Given the description of an element on the screen output the (x, y) to click on. 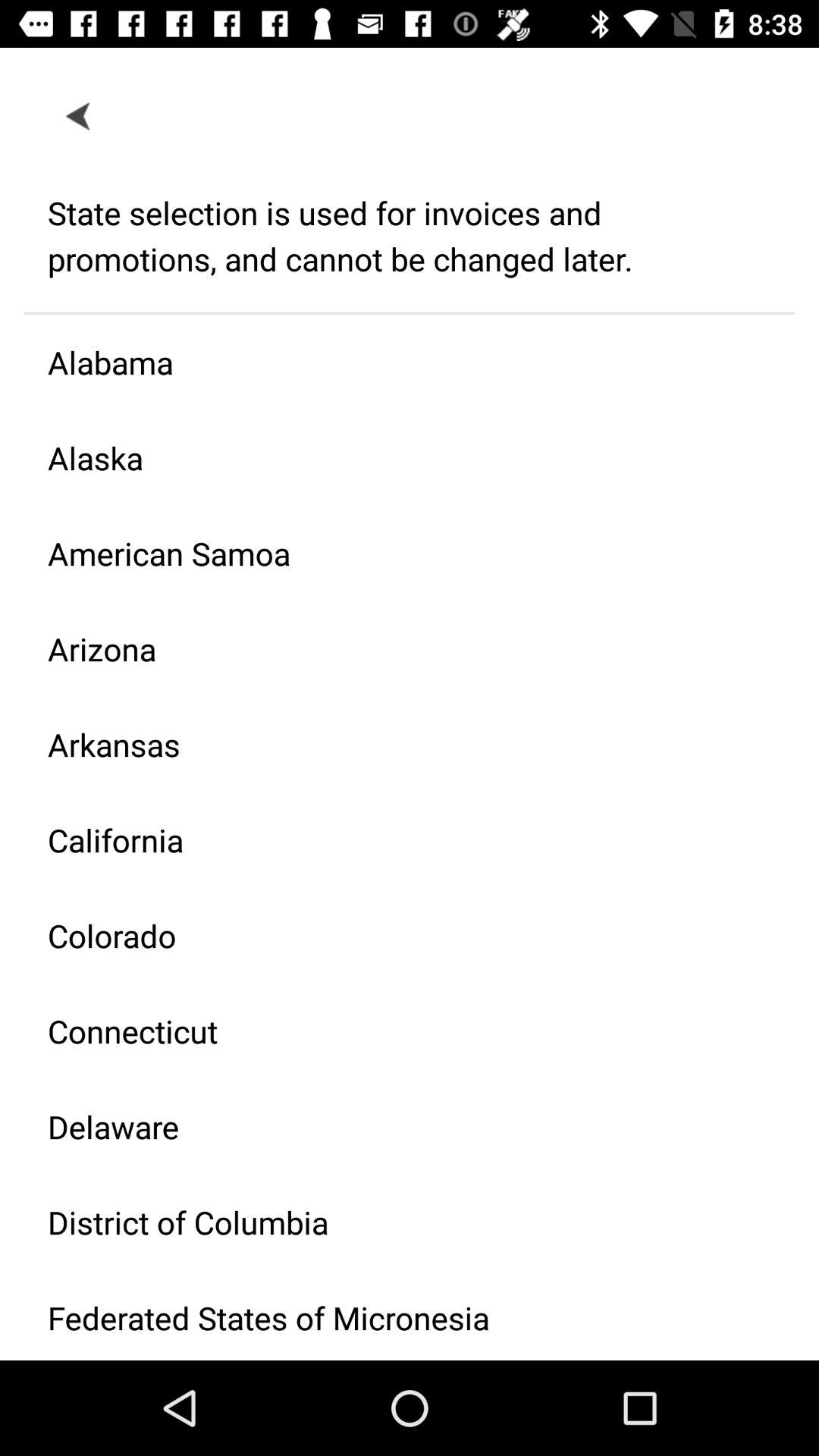
jump until delaware item (397, 1126)
